Given the description of an element on the screen output the (x, y) to click on. 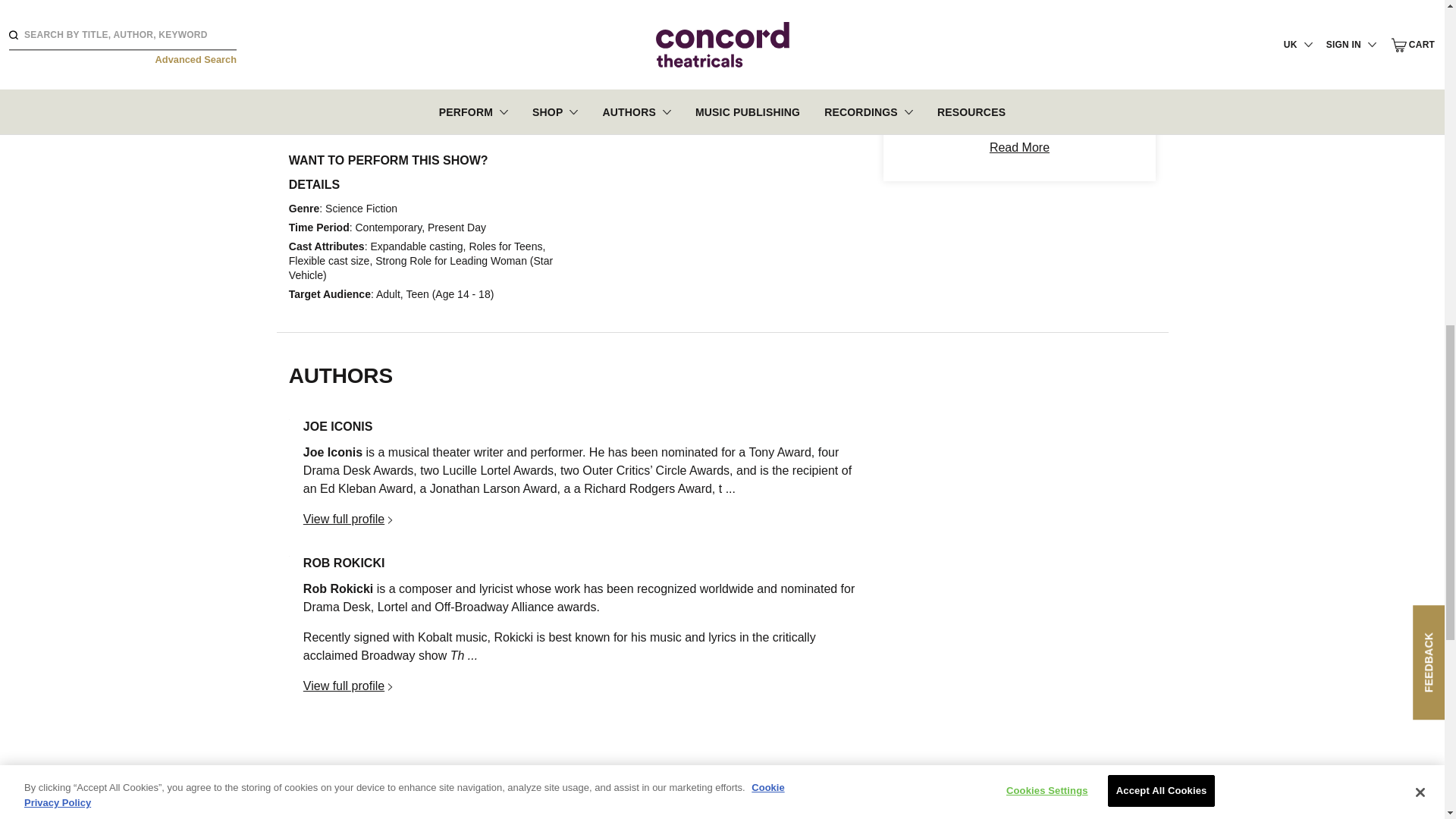
SubGenre (1018, 51)
